Given the description of an element on the screen output the (x, y) to click on. 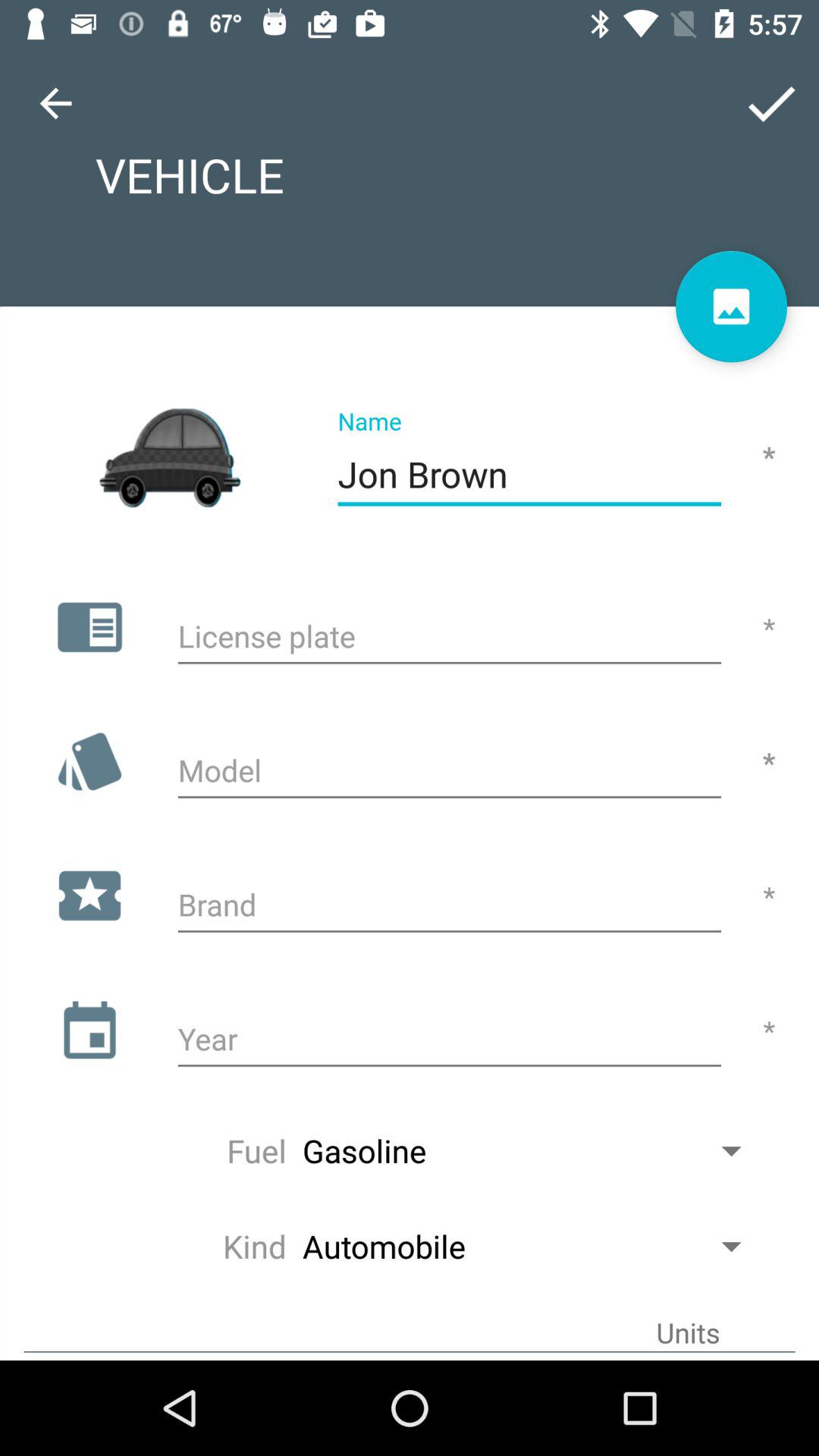
enter text (449, 1041)
